Given the description of an element on the screen output the (x, y) to click on. 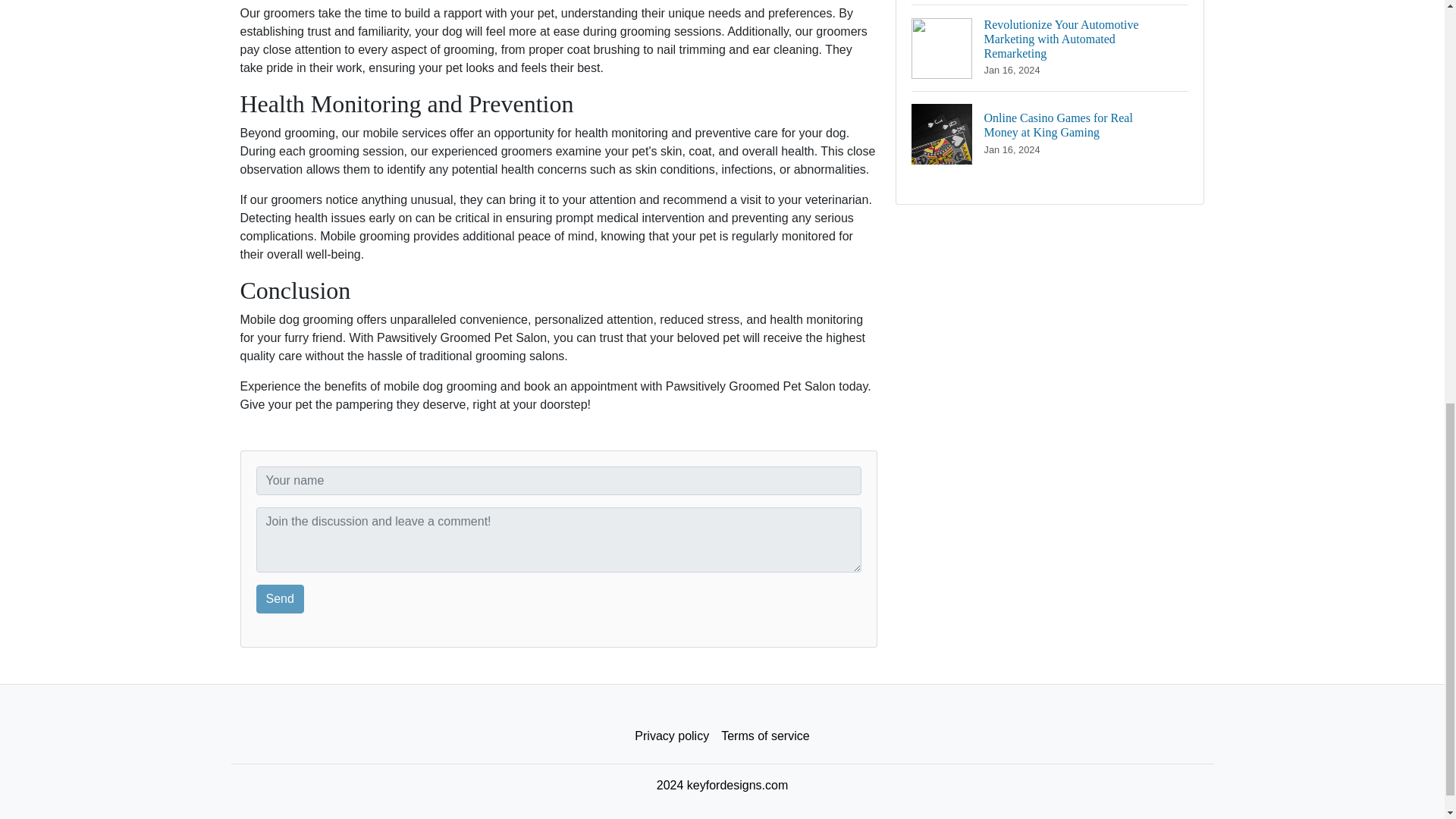
Terms of service (764, 736)
Send (280, 598)
Privacy policy (671, 736)
Send (280, 598)
